Given the description of an element on the screen output the (x, y) to click on. 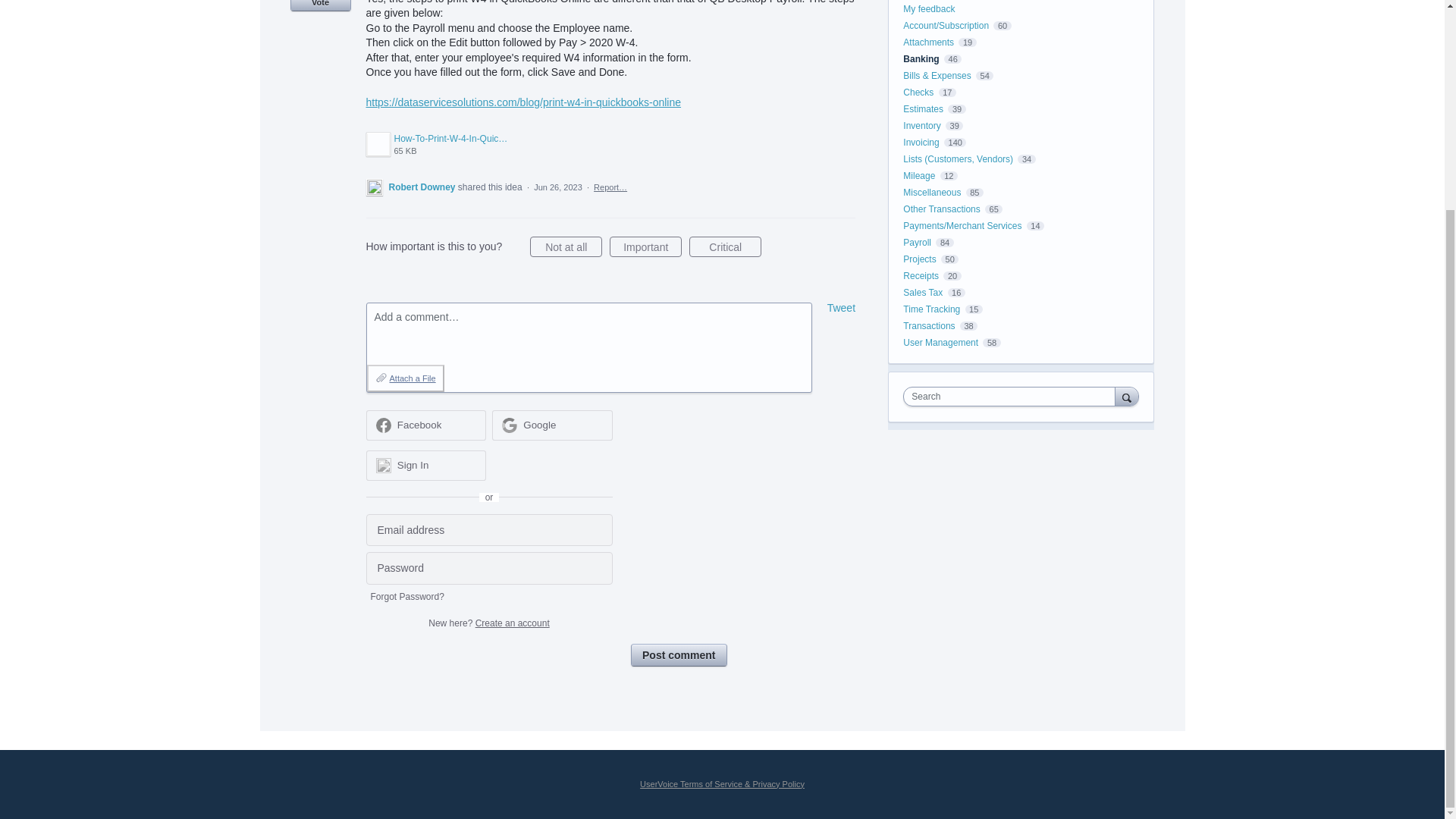
View How-To-Print-W-4-In-QuickBooks-Online.jpg (437, 144)
Google (552, 425)
Vote (319, 5)
Robert Downey (422, 186)
Critical (724, 246)
Not at all (565, 246)
Facebook (425, 425)
Attach a File (405, 378)
Important (645, 246)
Tweet (437, 144)
Facebook sign in (841, 307)
